Given the description of an element on the screen output the (x, y) to click on. 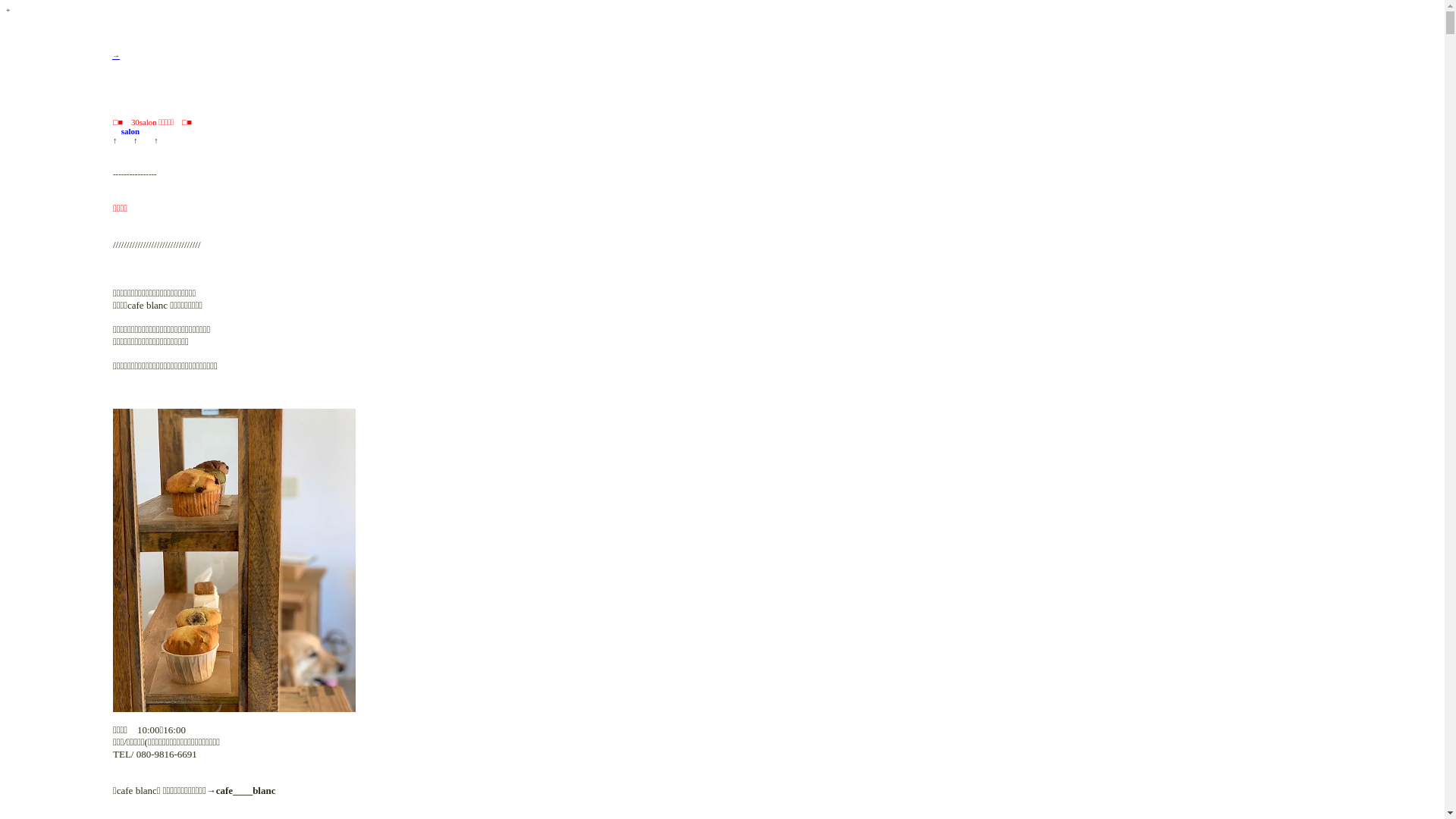
+ Element type: text (8, 8)
salon Element type: text (125, 130)
